Given the description of an element on the screen output the (x, y) to click on. 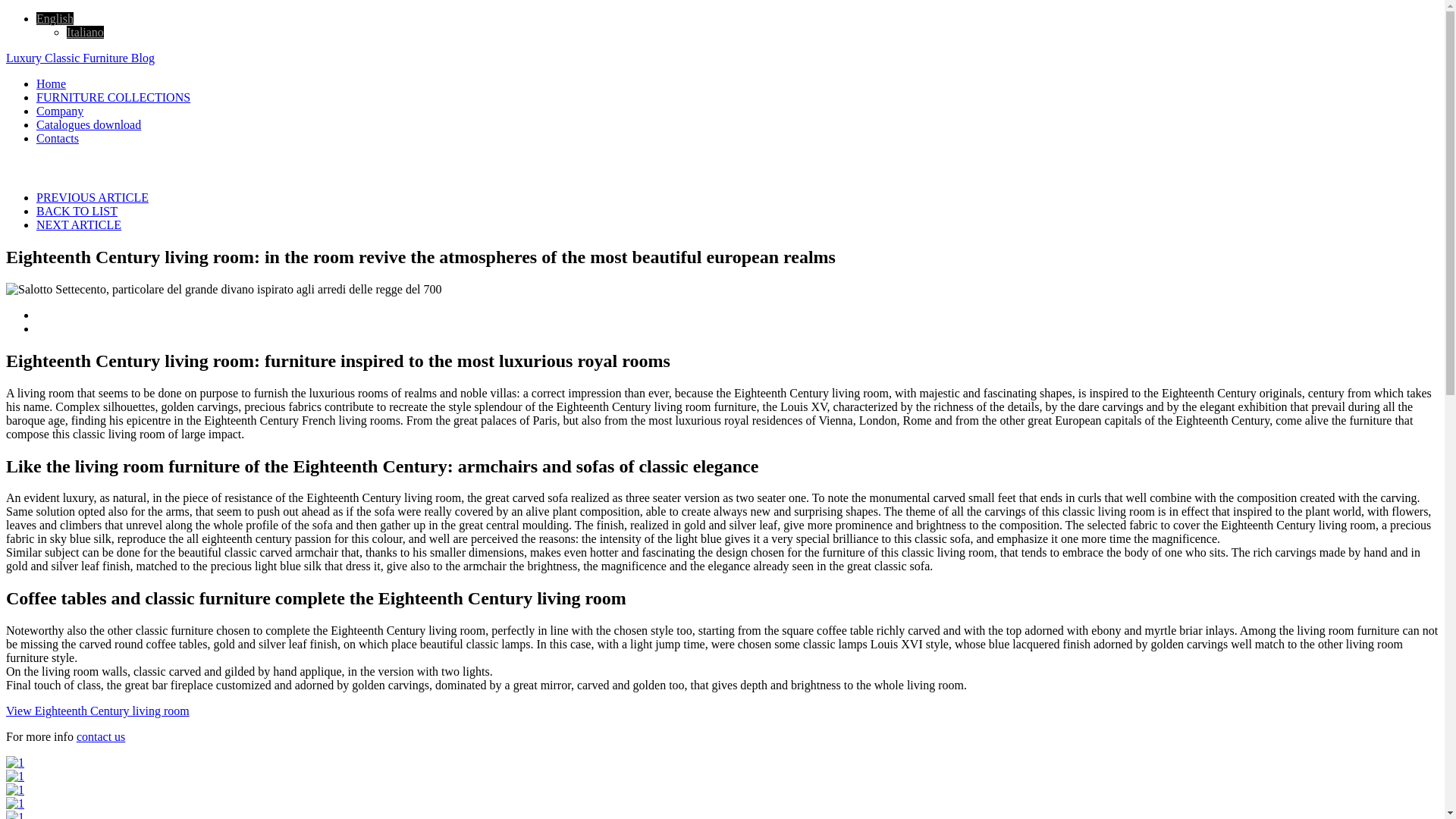
FURNITURE COLLECTIONS (113, 97)
Home (50, 83)
Luxury Classic Furniture Blog (79, 57)
Contacts (57, 137)
Company (59, 110)
